Given the description of an element on the screen output the (x, y) to click on. 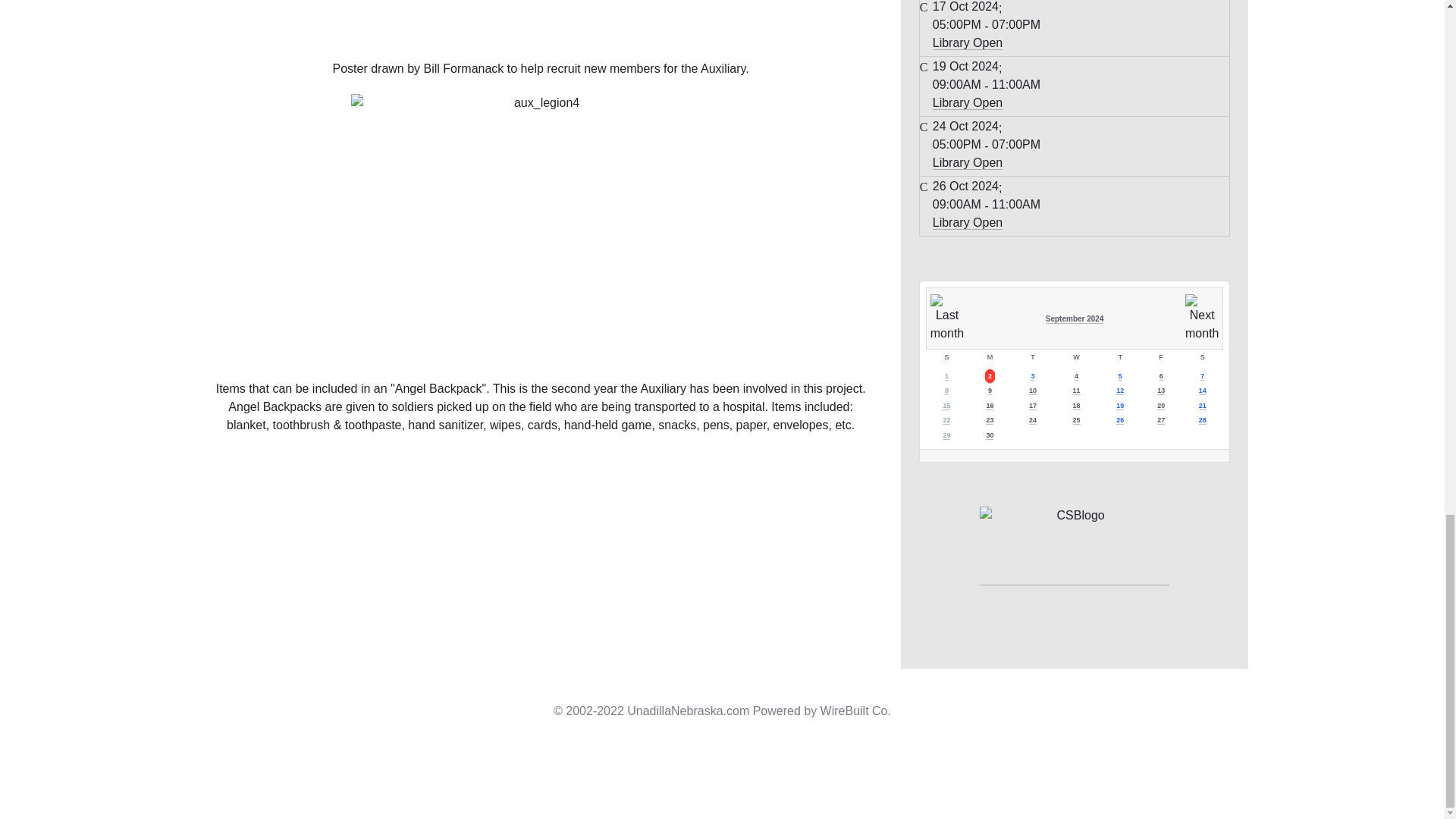
Go to calendar - current day (1202, 389)
Go to calendar - current day (946, 405)
Go to calendar - current day (1160, 389)
Go to calendar - current day (1120, 389)
Go to calendar - current day (988, 405)
Go to calendar - current day (1076, 389)
Go to calendar - current day (1032, 389)
